Given the description of an element on the screen output the (x, y) to click on. 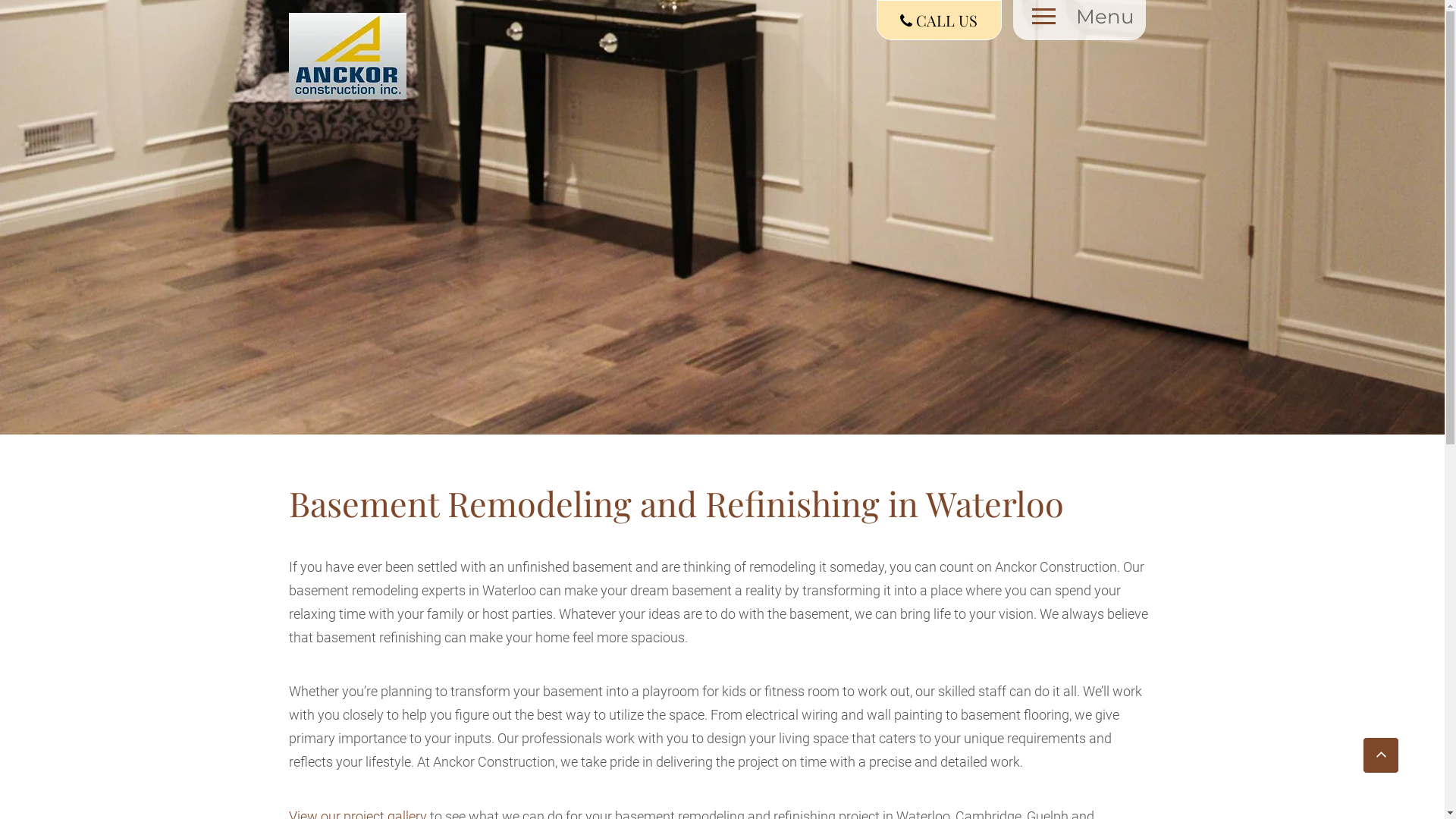
CALL US Element type: text (938, 20)
